Given the description of an element on the screen output the (x, y) to click on. 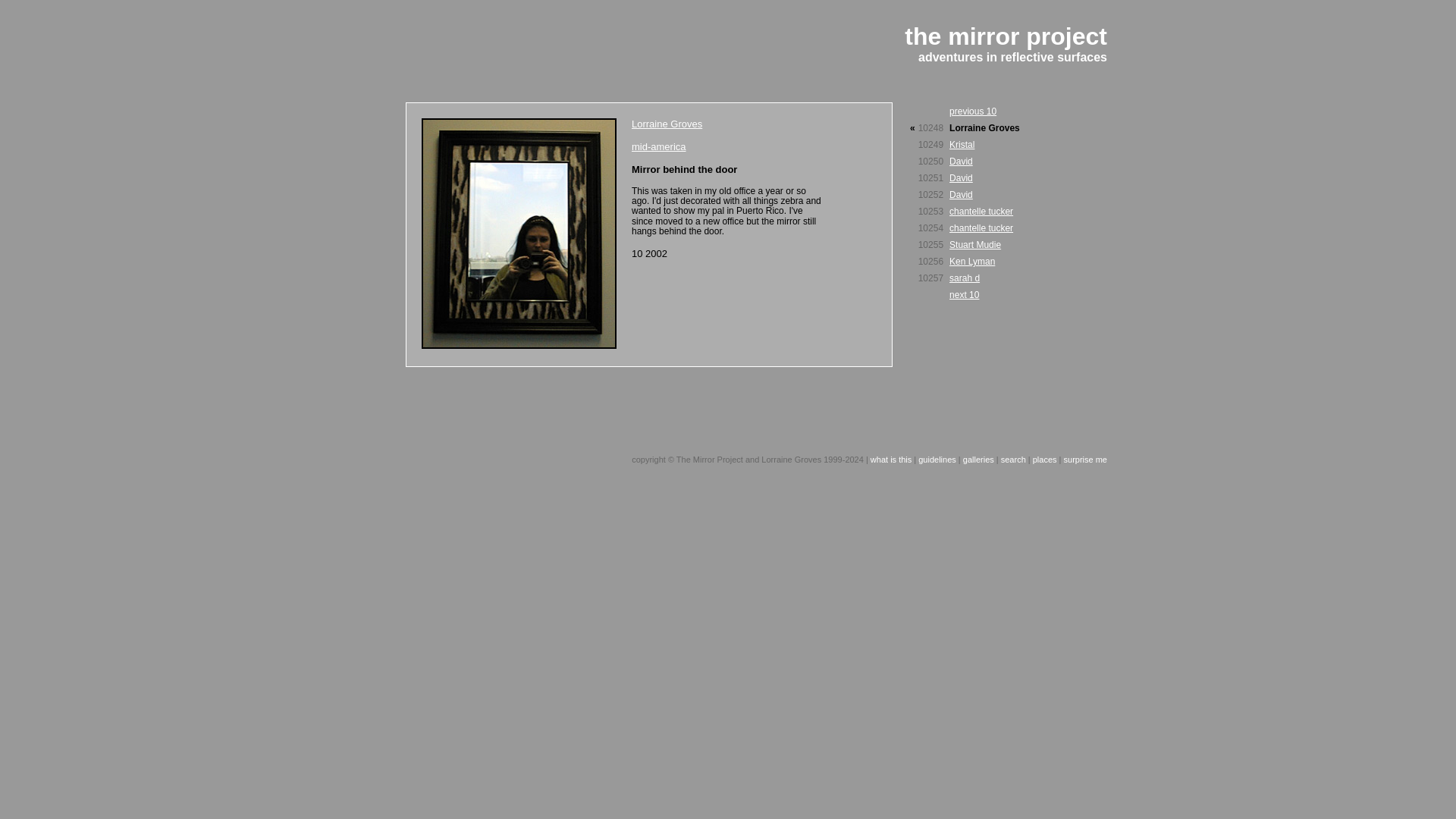
Lorraine Groves (666, 123)
mid-america (658, 146)
